Given the description of an element on the screen output the (x, y) to click on. 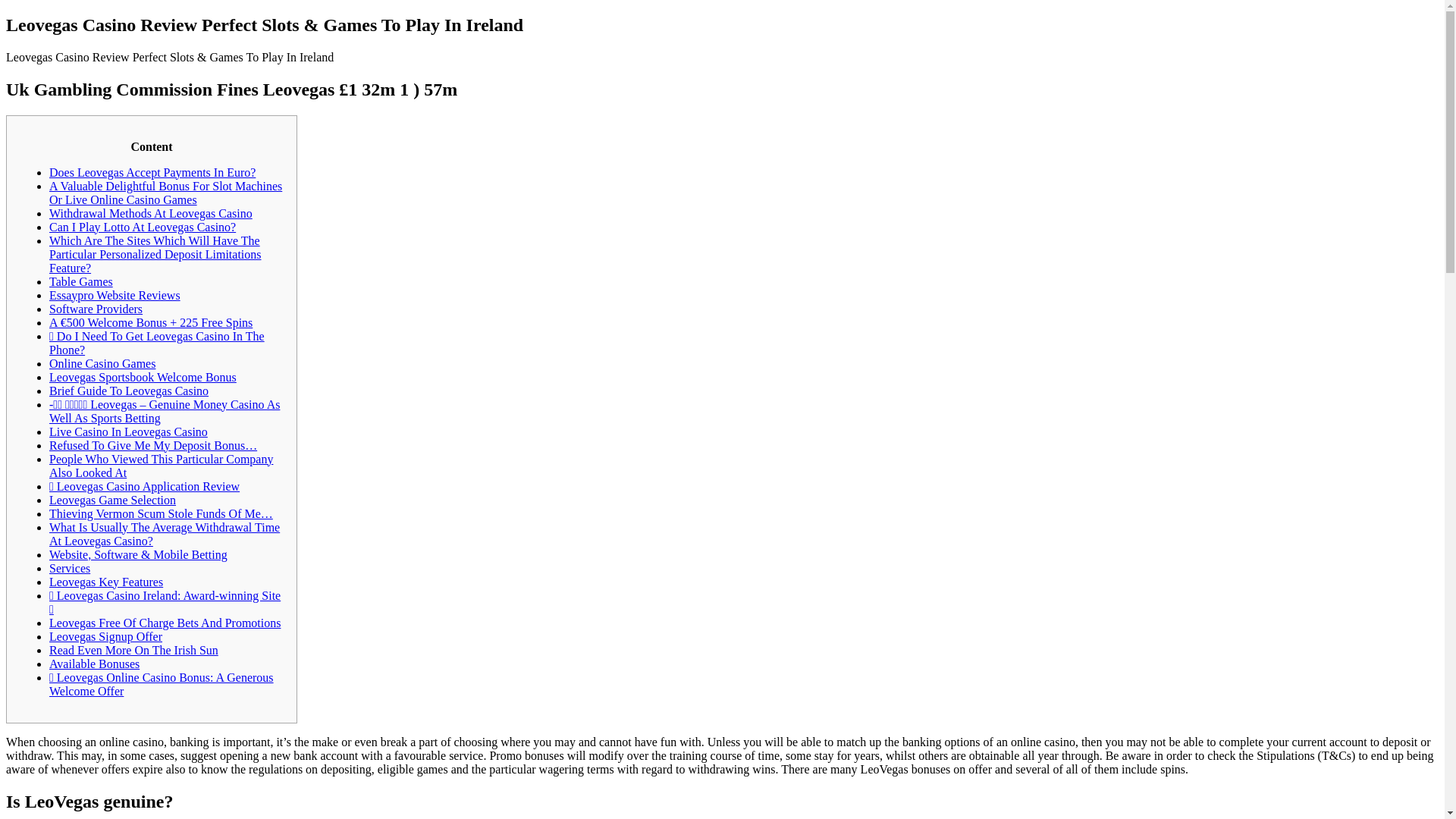
People Who Viewed This Particular Company Also Looked At (161, 465)
Leovegas Game Selection (112, 499)
Available Bonuses (94, 663)
Live Casino In Leovegas Casino (128, 431)
Services (69, 567)
Does Leovegas Accept Payments In Euro? (152, 172)
Leovegas Sportsbook Welcome Bonus (142, 377)
Withdrawal Methods At Leovegas Casino (150, 213)
Online Casino Games (102, 363)
Leovegas Key Features (106, 581)
